Given the description of an element on the screen output the (x, y) to click on. 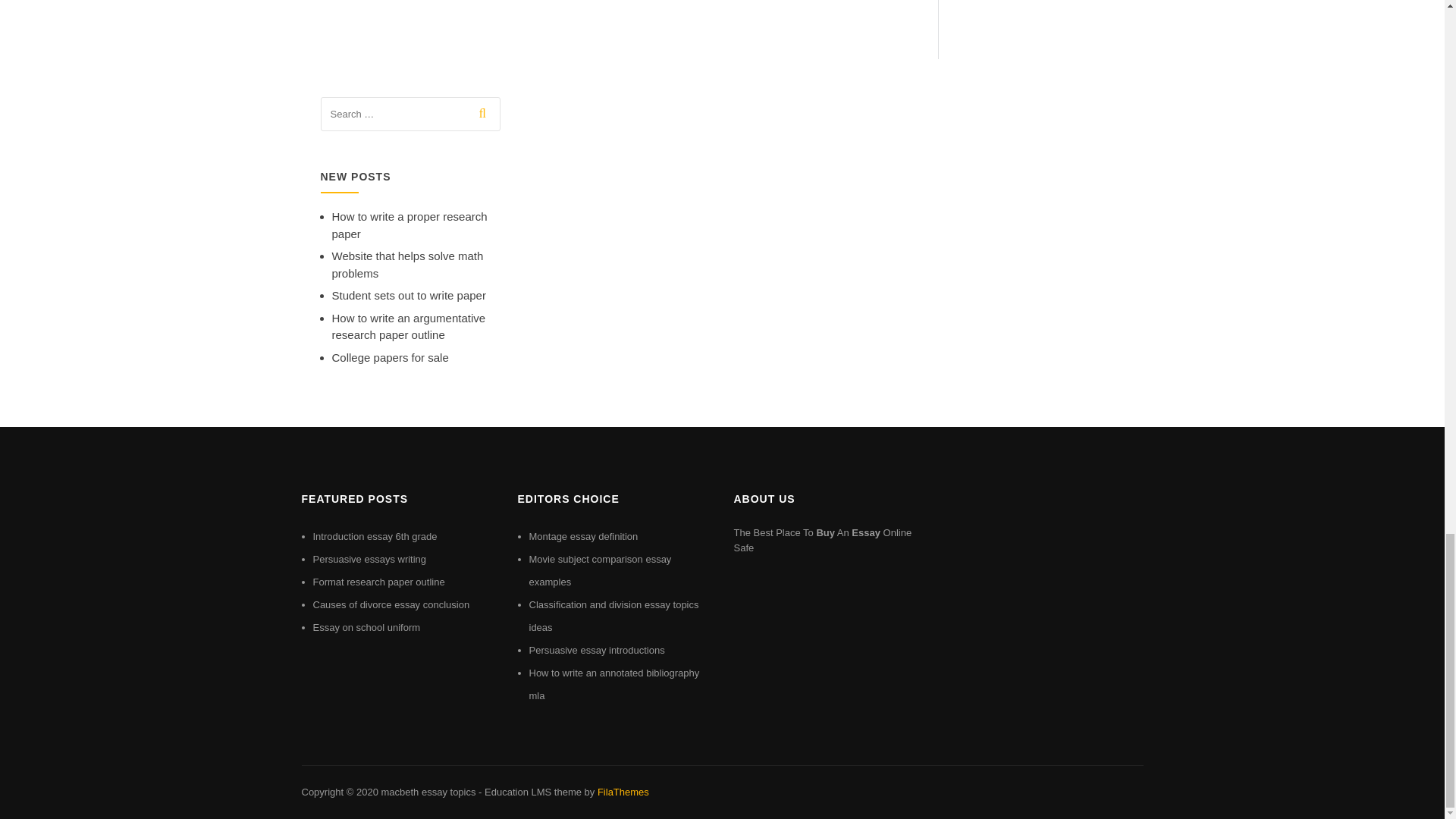
Movie subject comparison essay examples (600, 570)
Causes of divorce essay conclusion (390, 604)
Website that helps solve math problems (407, 264)
Format research paper outline (378, 582)
Montage essay definition (584, 536)
College papers for sale (389, 357)
Persuasive essay introductions (597, 650)
macbeth essay topics (428, 791)
How to write an argumentative research paper outline (408, 327)
How to write an annotated bibliography mla (614, 684)
